Given the description of an element on the screen output the (x, y) to click on. 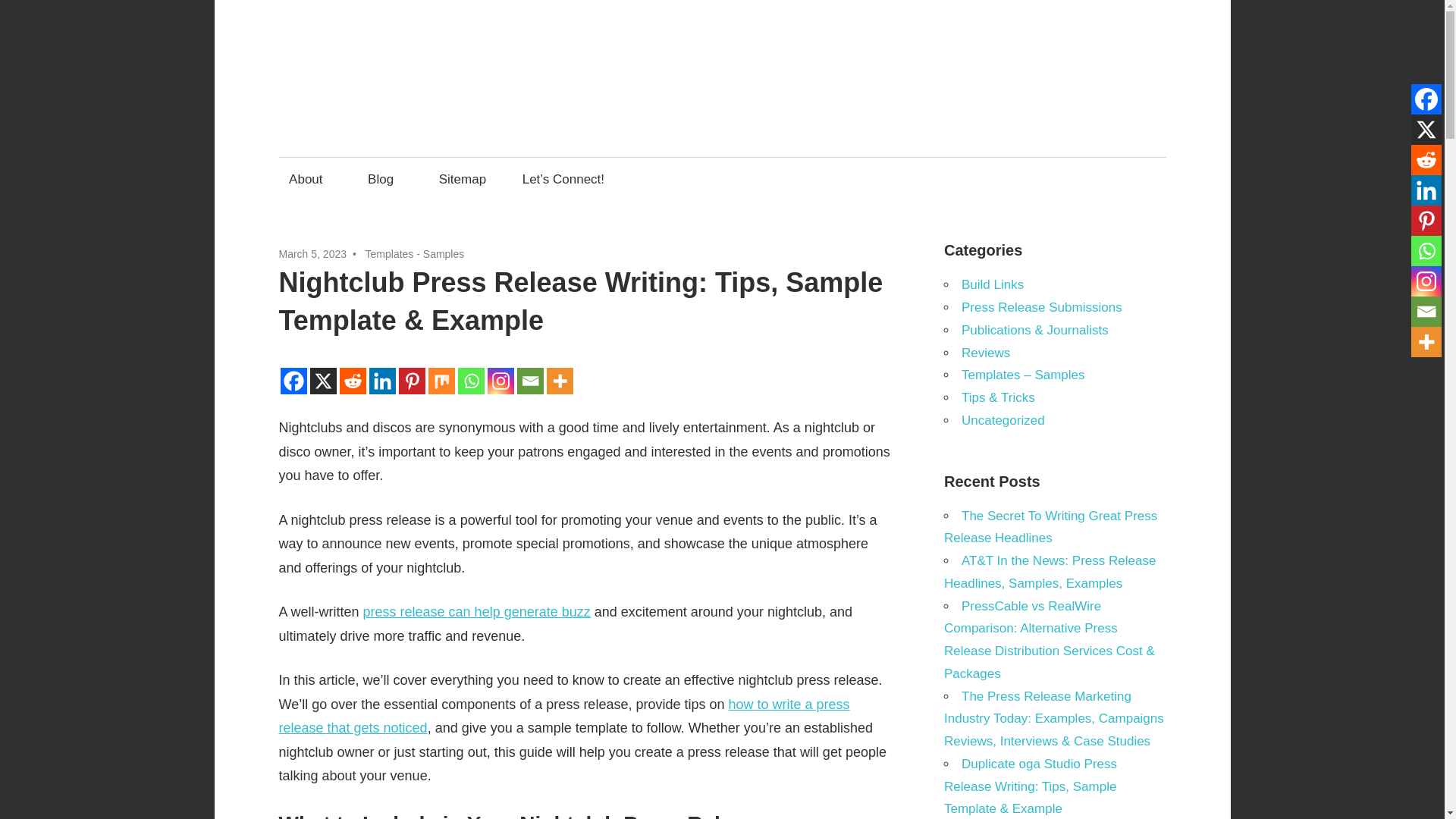
Facebook (1425, 99)
press release can help generate buzz (476, 611)
Pinterest (1425, 220)
Linkedin (1425, 190)
Templates - Samples (414, 254)
Sitemap (462, 179)
how to write a press release that gets noticed (564, 716)
X (1425, 129)
Whatsapp (1425, 250)
Blog (385, 179)
